Given the description of an element on the screen output the (x, y) to click on. 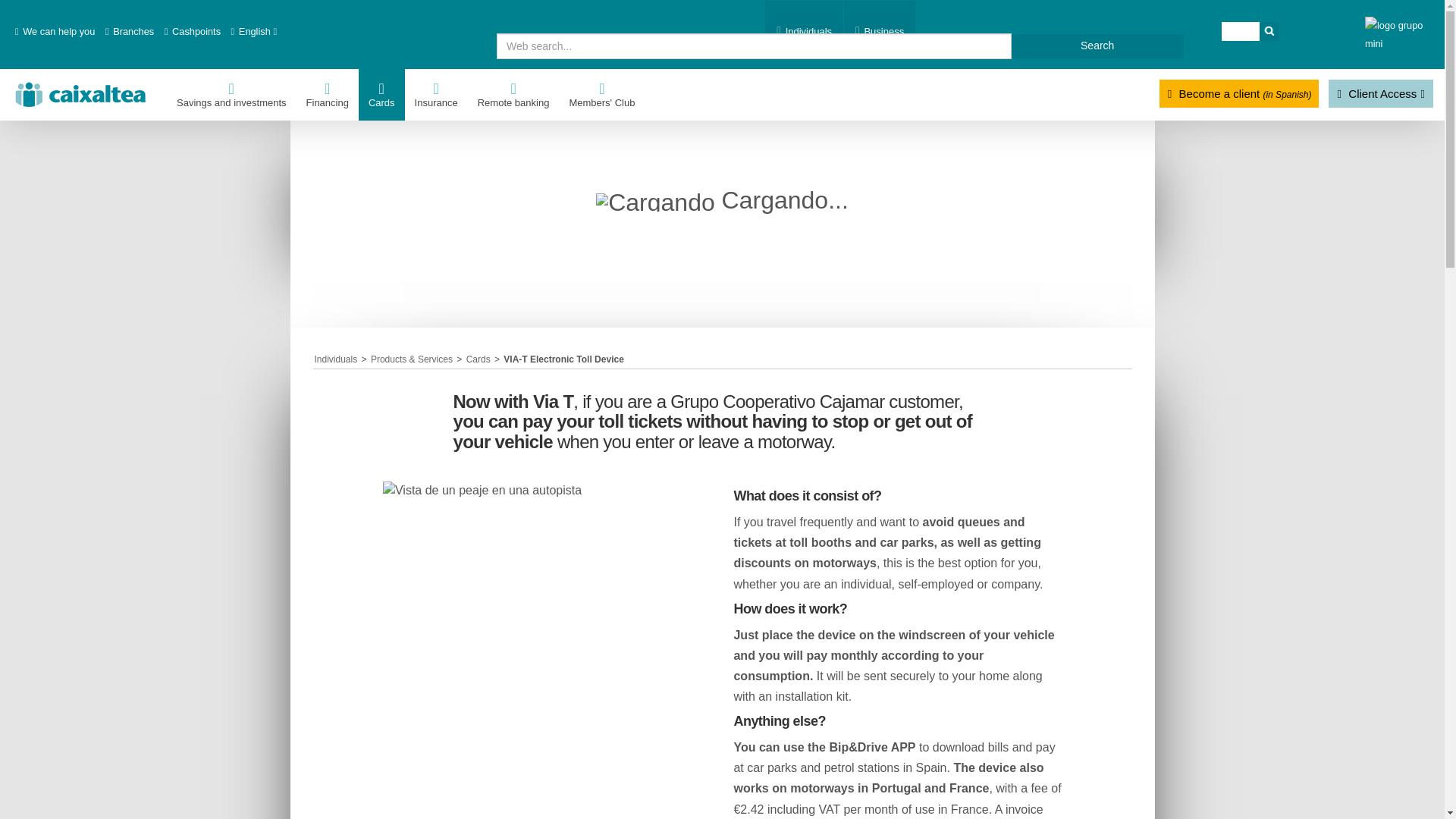
Home (82, 90)
Business (879, 23)
Individuals (804, 23)
Branches (130, 23)
We can help you (55, 23)
Savings and  investments (232, 94)
Individuals (804, 23)
Become a client (1234, 94)
Search (1096, 46)
English (256, 23)
Business (879, 23)
ATM search (193, 23)
  Client Access (1375, 94)
Cashpoints (193, 23)
